Given the description of an element on the screen output the (x, y) to click on. 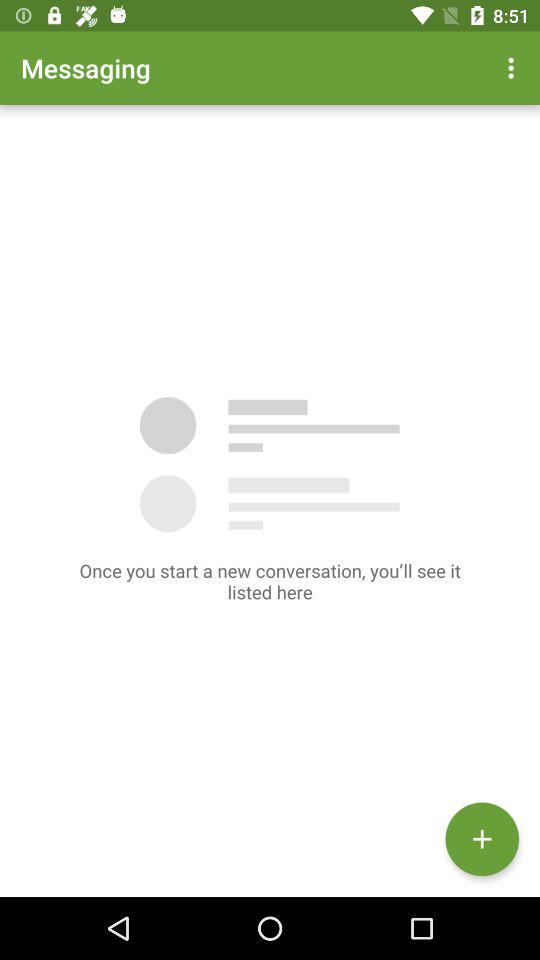
select item at the top right corner (513, 67)
